Given the description of an element on the screen output the (x, y) to click on. 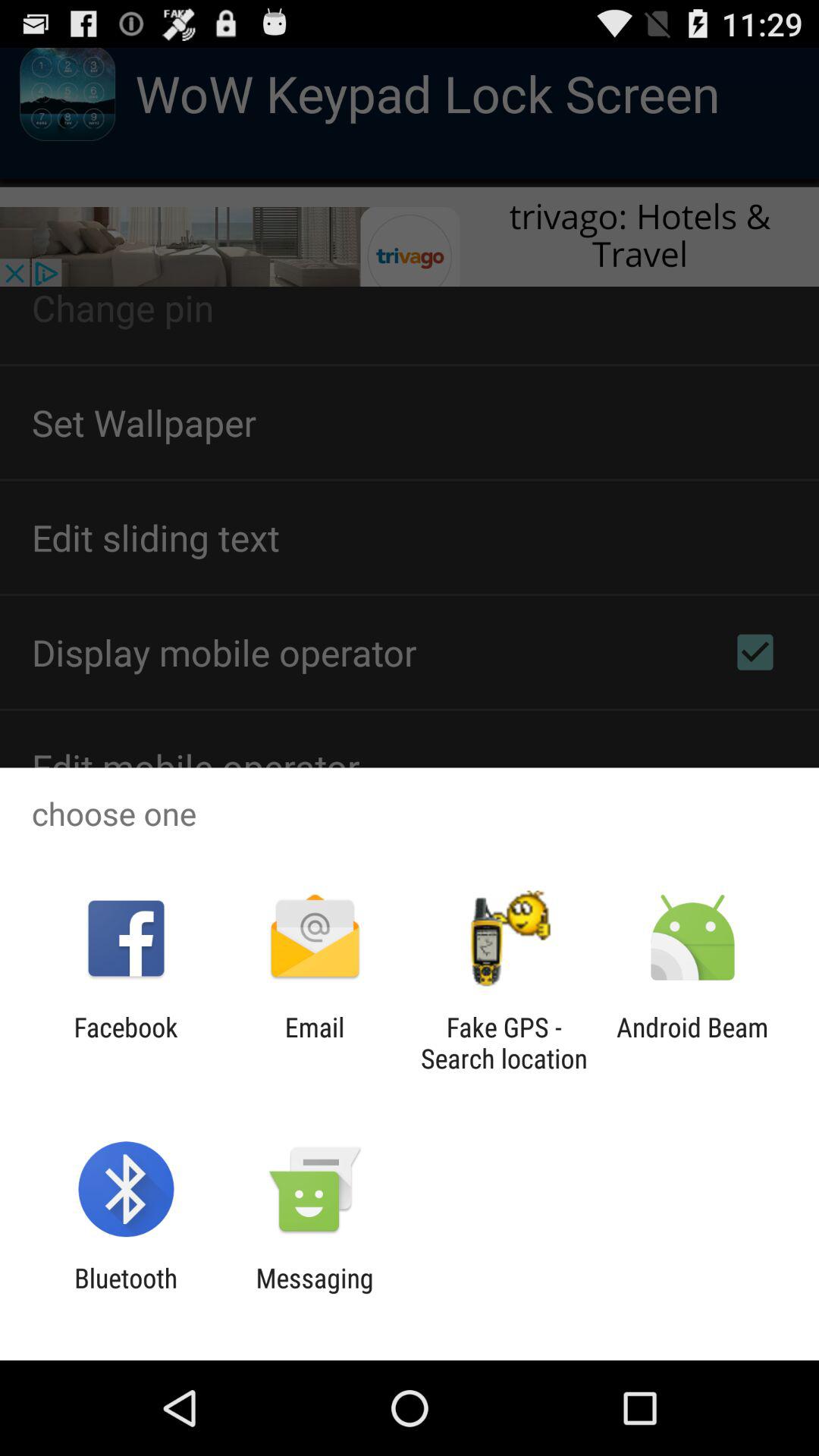
launch the fake gps search icon (503, 1042)
